Given the description of an element on the screen output the (x, y) to click on. 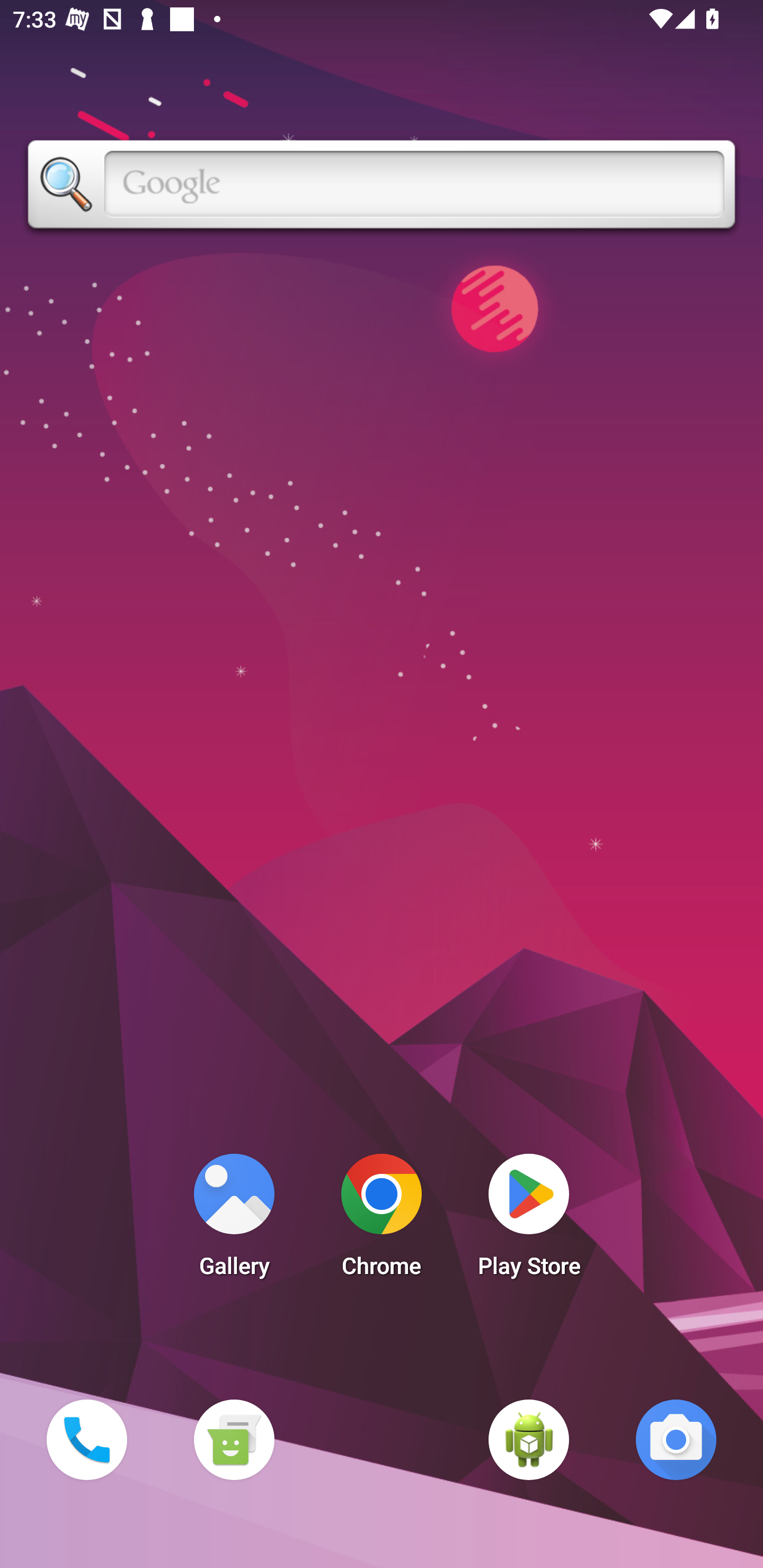
Gallery (233, 1220)
Chrome (381, 1220)
Play Store (528, 1220)
Phone (86, 1439)
Messaging (233, 1439)
WebView Browser Tester (528, 1439)
Camera (676, 1439)
